Given the description of an element on the screen output the (x, y) to click on. 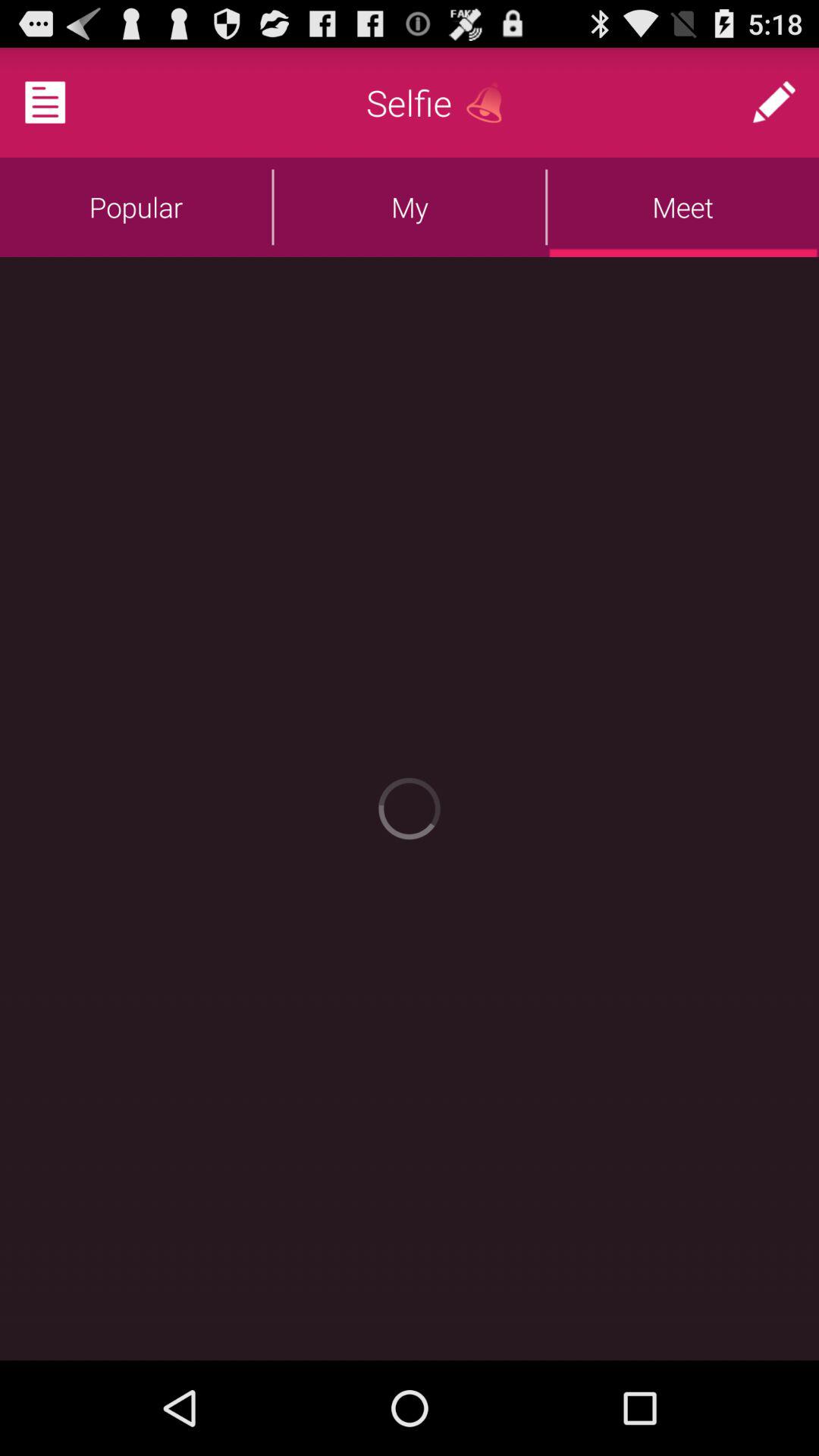
edit (773, 102)
